Given the description of an element on the screen output the (x, y) to click on. 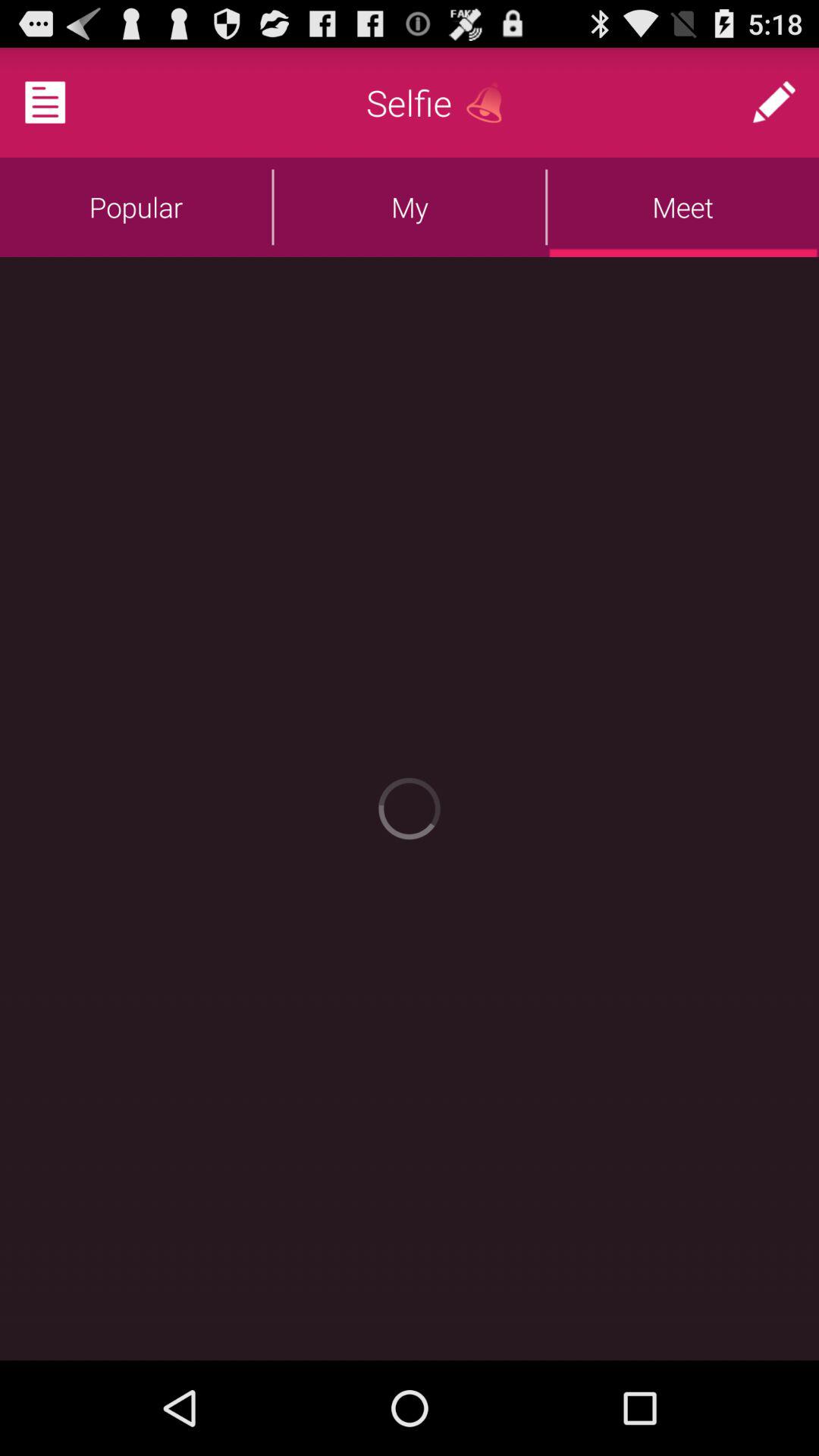
edit (773, 102)
